Given the description of an element on the screen output the (x, y) to click on. 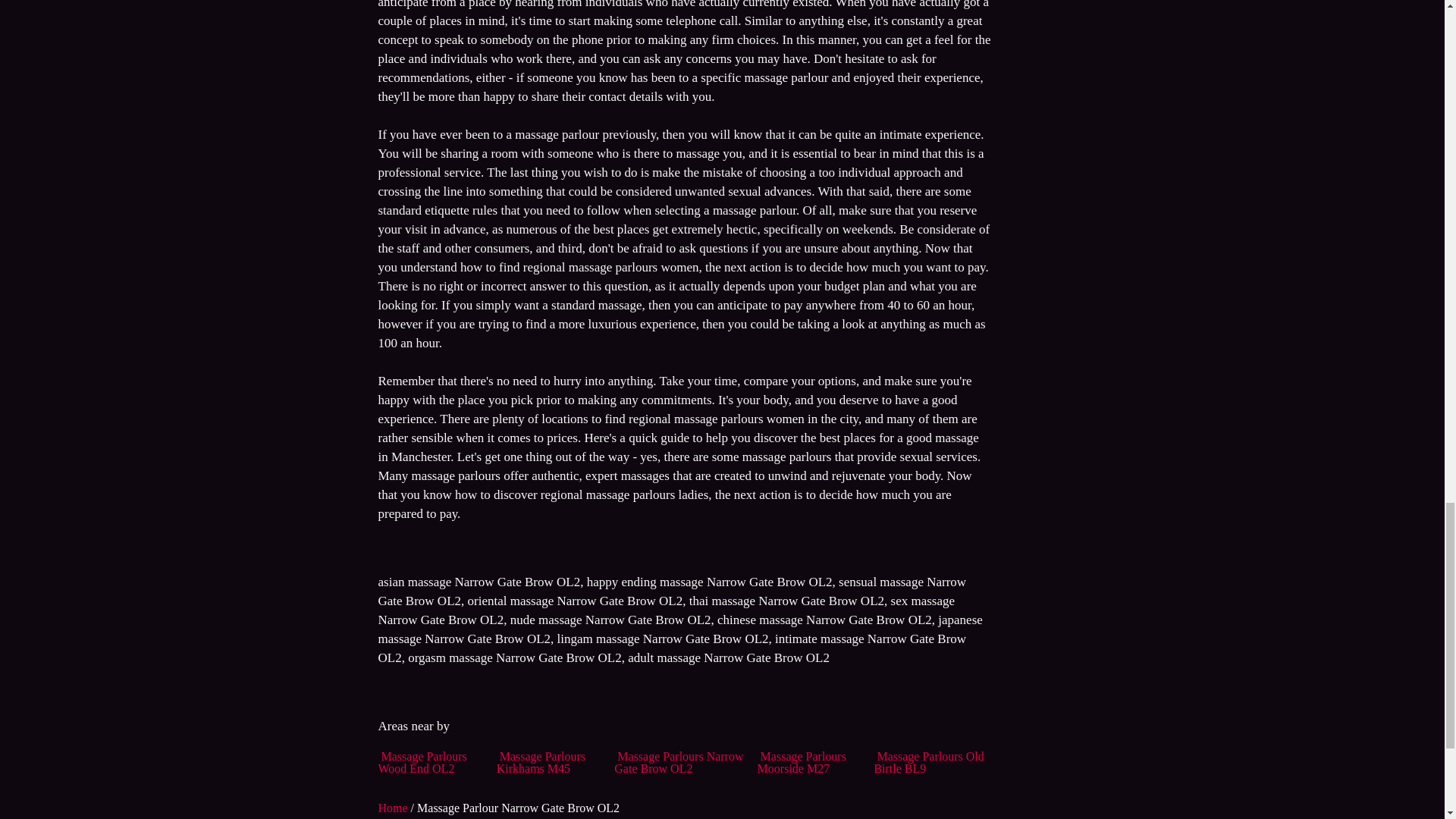
Massage Parlours Wood End OL2 (421, 762)
Massage Parlours Old Birtle BL9 (928, 762)
Massage Parlours Moorside M27 (801, 762)
Home (393, 807)
Massage Parlours Narrow Gate Brow OL2 (678, 762)
Massage Parlours Kirkhams M45 (540, 762)
